Given the description of an element on the screen output the (x, y) to click on. 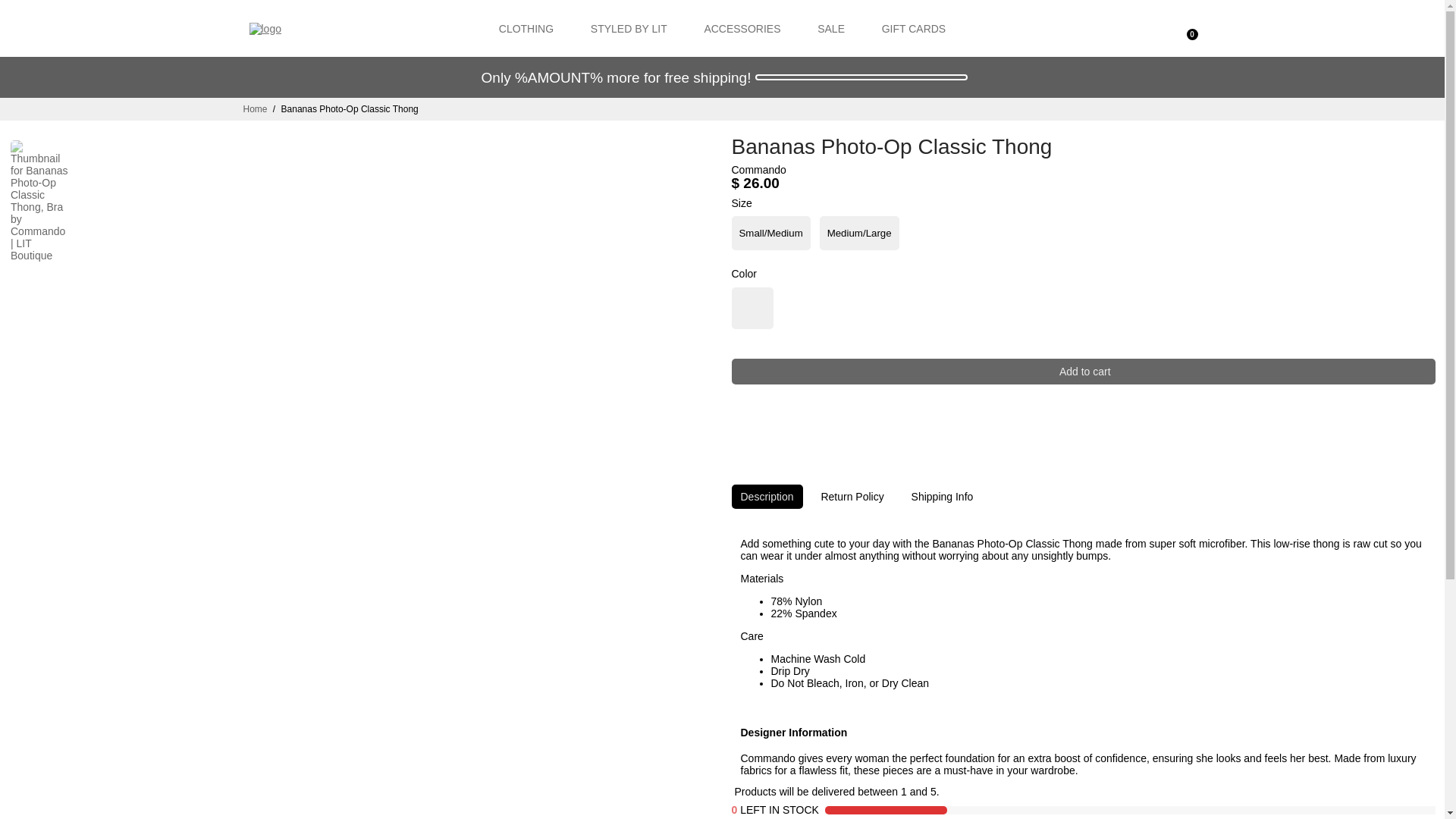
CLOTHING (526, 28)
Home (254, 109)
STYLED BY LIT (628, 28)
ACCESSORIES (741, 28)
